Given the description of an element on the screen output the (x, y) to click on. 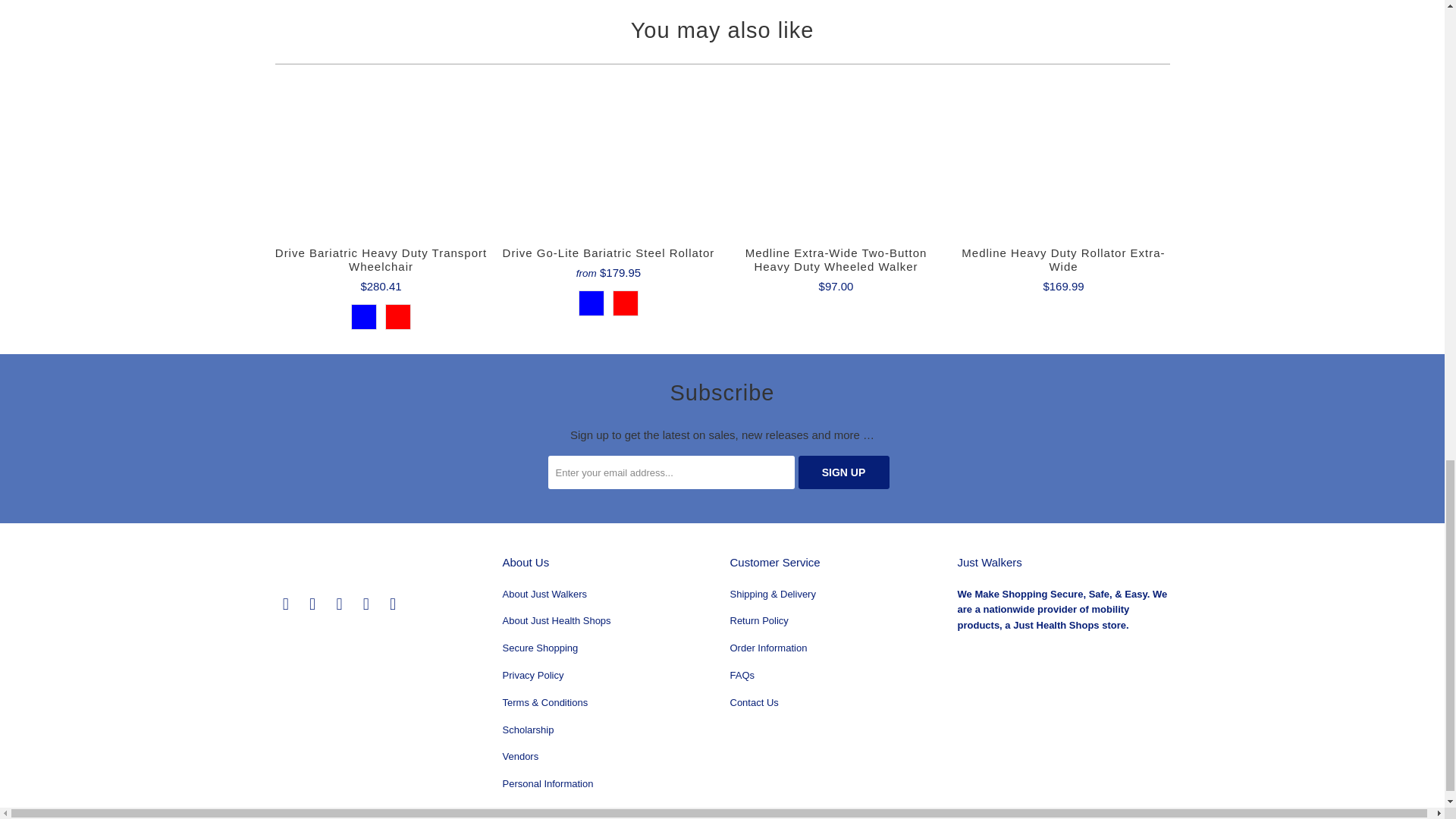
Sign Up (842, 471)
Just Walkers on Facebook (312, 604)
Just Walkers on Twitter (286, 604)
Just Walkers on YouTube (339, 604)
Email Just Walkers (392, 604)
Just Walkers on Instagram (366, 604)
